Given the description of an element on the screen output the (x, y) to click on. 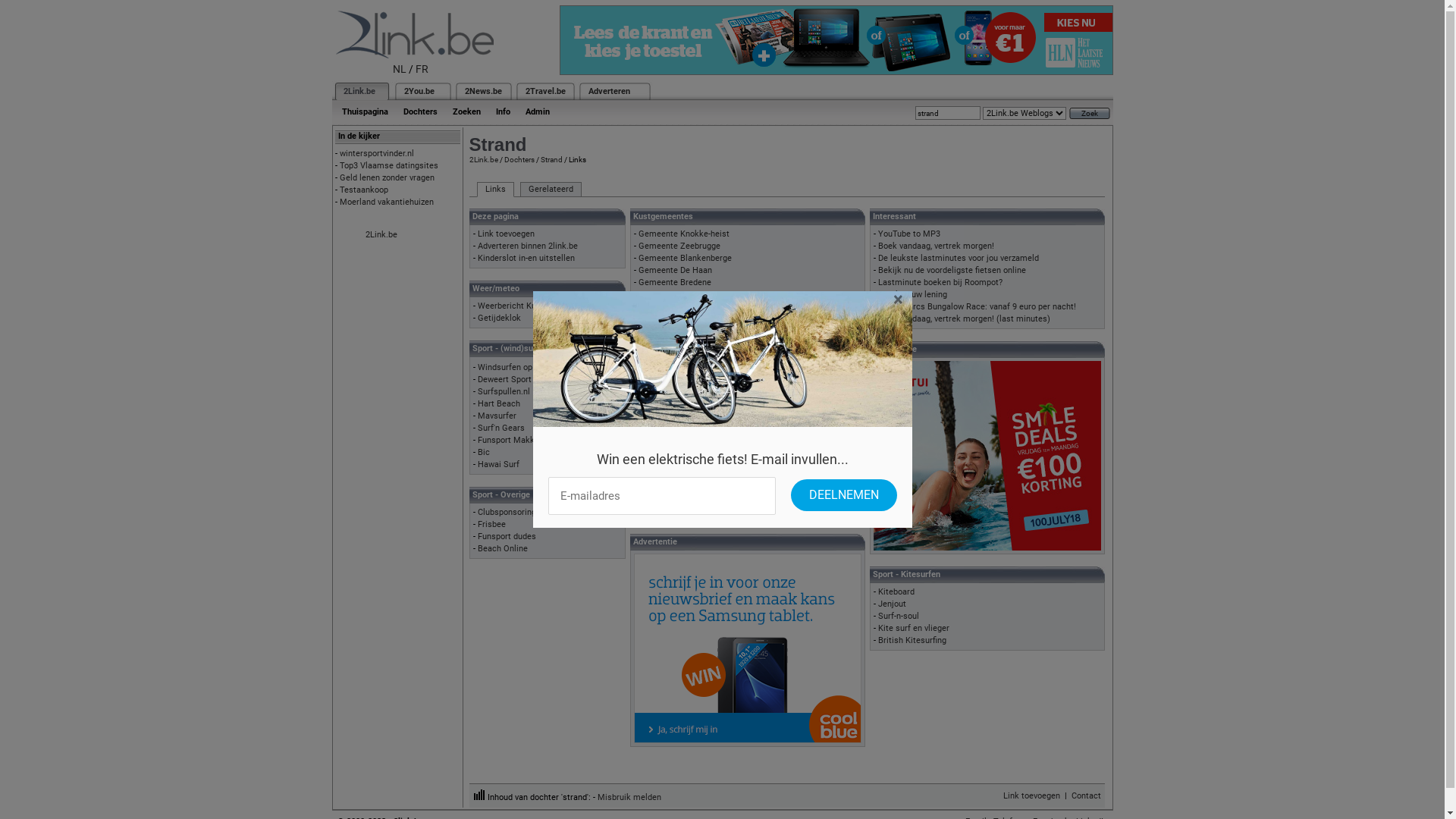
Misbruik melden Element type: text (629, 797)
Admin Element type: text (536, 111)
Links Element type: text (494, 189)
Surf-n-soul Element type: text (898, 616)
Bekijk nu de voordeligste fietsen online Element type: text (952, 270)
De leukste lastminutes voor jou verzameld Element type: text (958, 258)
Gemeente De Panne Element type: text (676, 330)
Thuispagina Element type: text (364, 111)
Strand Element type: text (550, 159)
Moerland vakantiehuizen Element type: text (386, 202)
Dochters Element type: text (420, 111)
Skimoard Skim-online Element type: text (679, 475)
2News.be Element type: text (482, 91)
British Kitesurfing Element type: text (912, 640)
Windsurfen op het Eemmeer Element type: text (531, 367)
Contact Element type: text (1085, 795)
Kiteboard Element type: text (896, 591)
Hart Beach Element type: text (498, 403)
Bereken uw lening Element type: text (912, 294)
Beach Sand Castle Pages Element type: text (686, 415)
FR Element type: text (421, 68)
Lastminute boeken bij Roompot? Element type: text (940, 282)
Deweert Sport Element type: text (504, 379)
CenterParcs Bungalow Race: vanaf 9 euro per nacht! Element type: text (977, 306)
Skimboard Building Element type: text (675, 462)
wintersportvinder.nl Element type: text (376, 153)
Sandaholics Element type: text (661, 378)
Zoeken Element type: text (465, 111)
2Link.be Element type: text (482, 159)
Jenjout Element type: text (892, 603)
Adverteren binnen 2link.be Element type: text (527, 246)
YouTube to MP3 Element type: text (909, 233)
Top3 Vlaamse datingsites Element type: text (388, 165)
Beach Online Element type: text (502, 548)
2Travel.be Element type: text (544, 91)
Kinderslot in-en uitstellen Element type: text (525, 258)
Boek vandaag, vertrek morgen! Element type: text (936, 246)
Gemeente Bredene Element type: text (674, 282)
2Link.be Element type: text (358, 91)
Clubsponsoring Element type: text (506, 512)
Gemeente Koksijde Element type: text (675, 318)
Kite surf en vlieger Element type: text (913, 628)
Gemeente De Haan Element type: text (675, 270)
Funsport dudes Element type: text (506, 536)
Surfspullen.nl Element type: text (503, 391)
Boek vandaag, vertrek morgen! (last minutes) Element type: text (964, 318)
Zandacademie Element type: text (666, 390)
Hawai Surf Element type: text (498, 464)
2Link.be Element type: text (381, 234)
Info Element type: text (502, 111)
Gemeente Nieuwpoort Element type: text (680, 306)
Geld lenen zonder vragen Element type: text (386, 177)
Adverteren Element type: text (609, 91)
Gerelateerd Element type: text (550, 189)
Sandsculpting Element type: text (665, 402)
Link toevoegen Element type: text (505, 233)
Dochters Element type: text (518, 159)
Gemeente Knokke-heist Element type: text (683, 233)
Getijdeklok Element type: text (498, 318)
Funsport Makkum Element type: text (511, 440)
Gemeente Oostende Element type: text (677, 294)
2You.be Element type: text (418, 91)
Gemeente Blankenberge Element type: text (684, 258)
Skimoard Net Europa Element type: text (678, 487)
Surf'n Gears Element type: text (500, 428)
Zoek Element type: text (1089, 113)
Skimboard, foto's Element type: text (670, 511)
Link toevoegen Element type: text (1030, 795)
Victoria Skimboards Element type: text (676, 499)
Bic Element type: text (483, 452)
NL Element type: text (399, 68)
Mavsurfer Element type: text (496, 415)
Testaankoop Element type: text (363, 189)
Frisbee Element type: text (491, 524)
Gemeente Zeebrugge Element type: text (679, 246)
Weerbericht Kust Element type: text (510, 305)
